Given the description of an element on the screen output the (x, y) to click on. 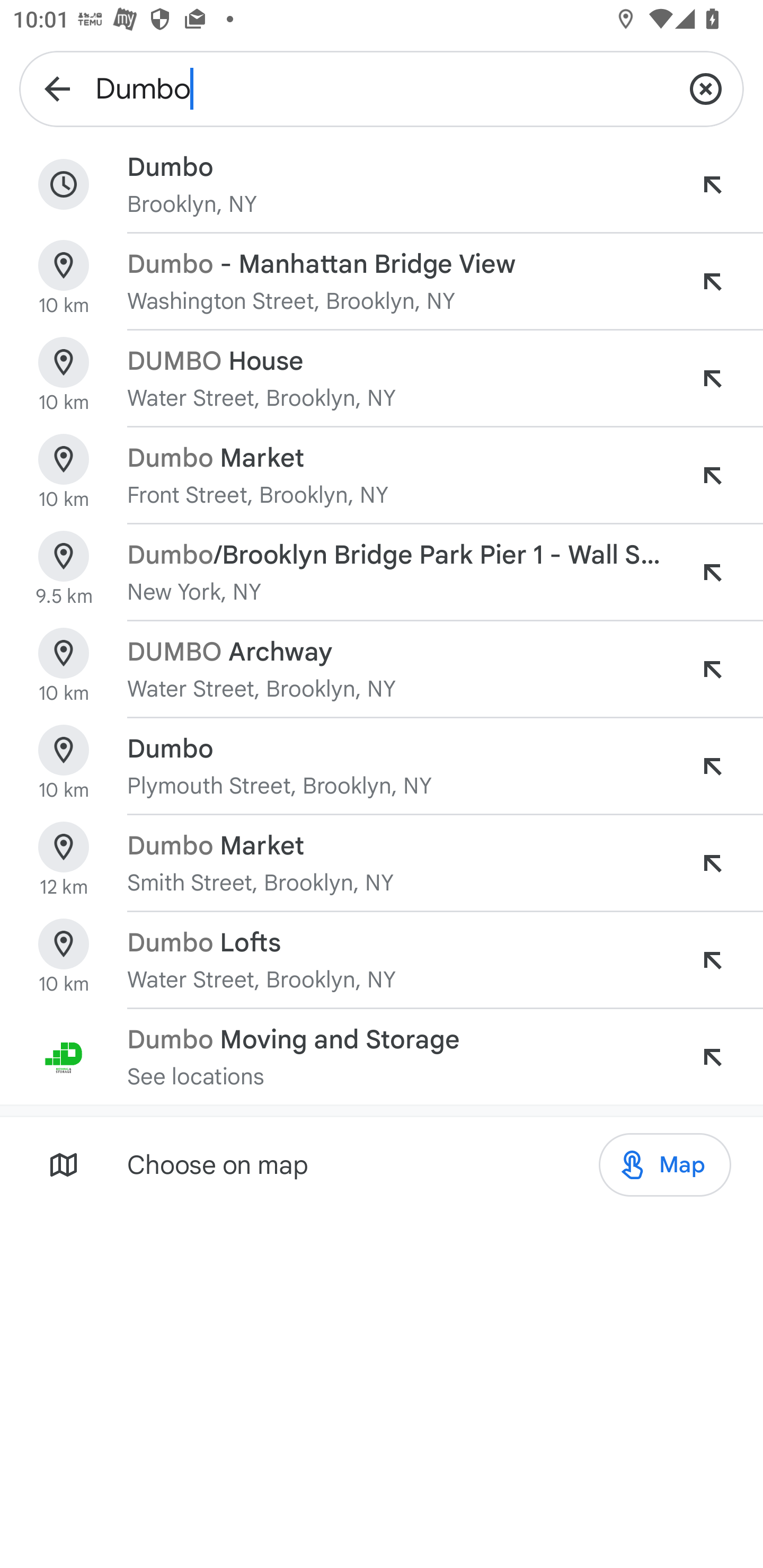
Navigate up (57, 88)
Dumbo (381, 88)
Clear (705, 88)
Activate to enter suggestion Dumbo into search bar (711, 183)
Activate to enter suggestion Dumbo into search bar (711, 765)
Choose on map Map Map Map (381, 1164)
Map Map Map (664, 1164)
